Given the description of an element on the screen output the (x, y) to click on. 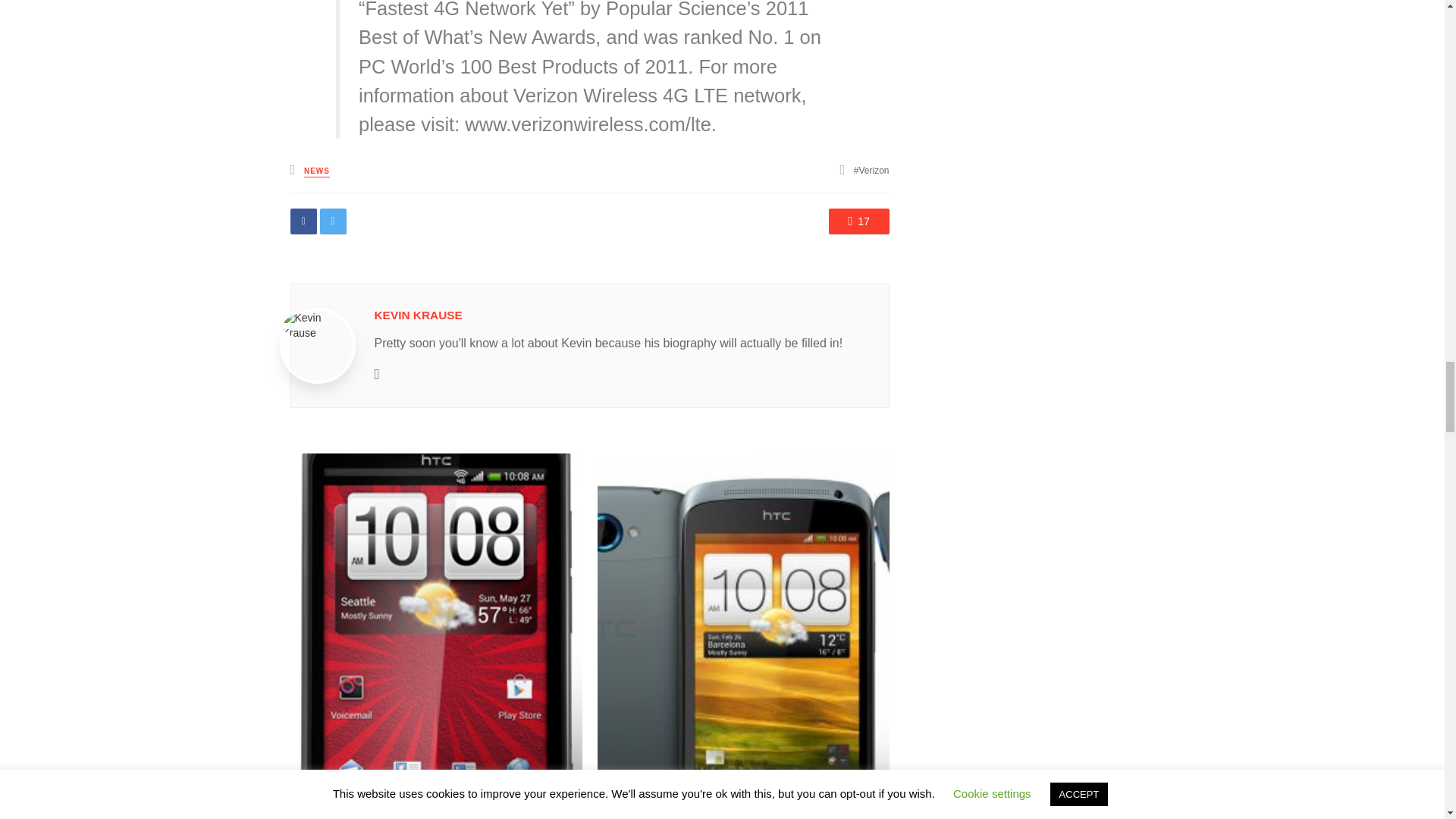
Verizon (871, 170)
17 (858, 221)
NEWS (317, 171)
KEVIN KRAUSE (418, 314)
Posts by Kevin Krause (418, 314)
